Given the description of an element on the screen output the (x, y) to click on. 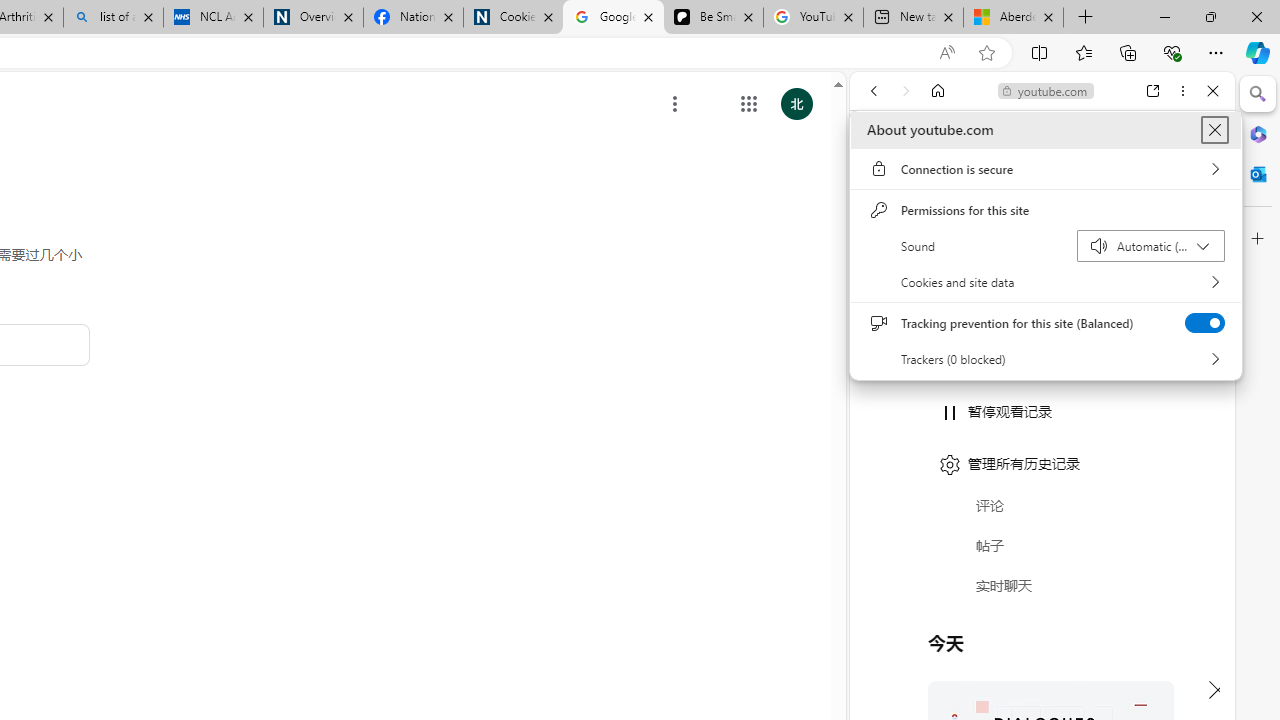
Connection is secure (1046, 169)
Show More Music (1164, 546)
Trailer #2 [HD] (1042, 594)
NCL Adult Asthma Inhaler Choice Guideline (212, 17)
